Given the description of an element on the screen output the (x, y) to click on. 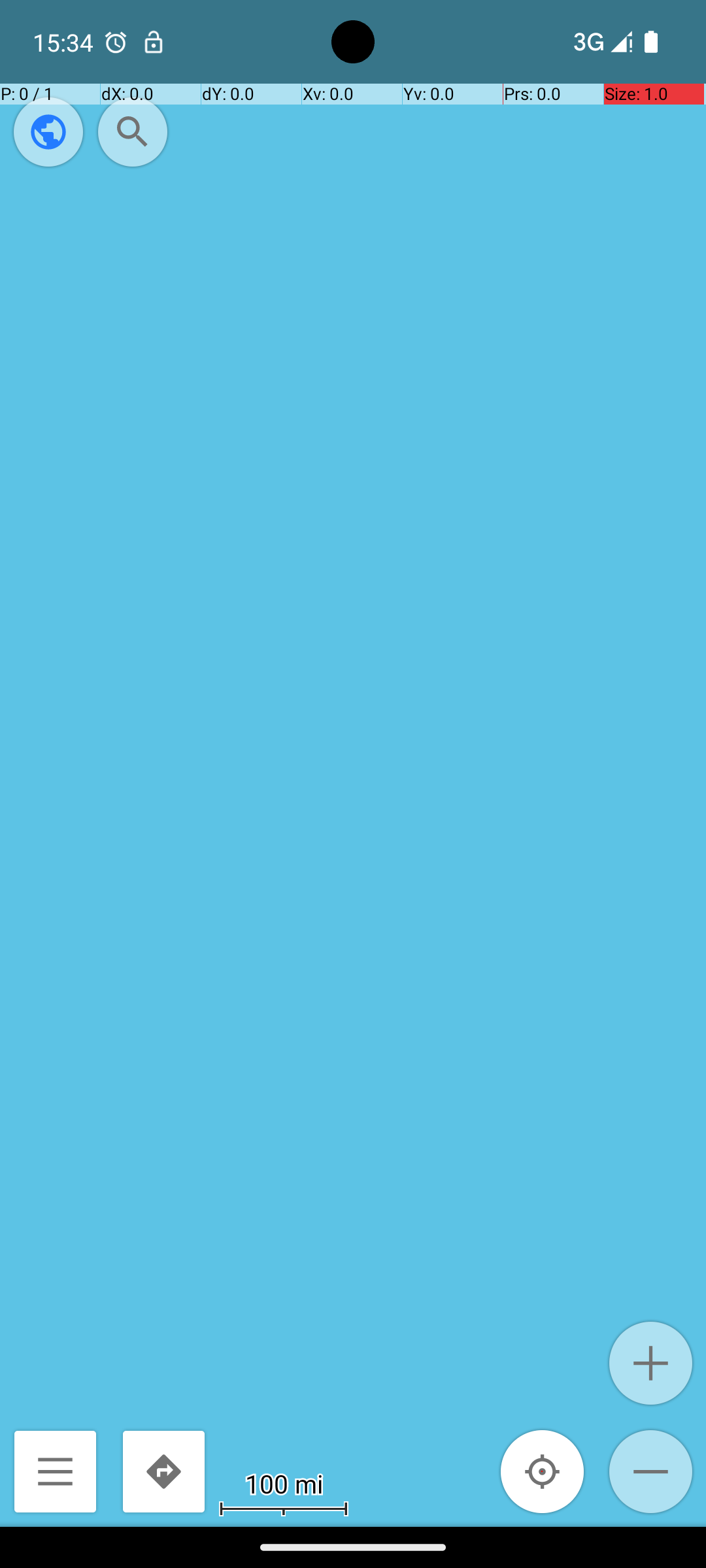
100 mi Element type: android.widget.TextView (283, 1483)
